Given the description of an element on the screen output the (x, y) to click on. 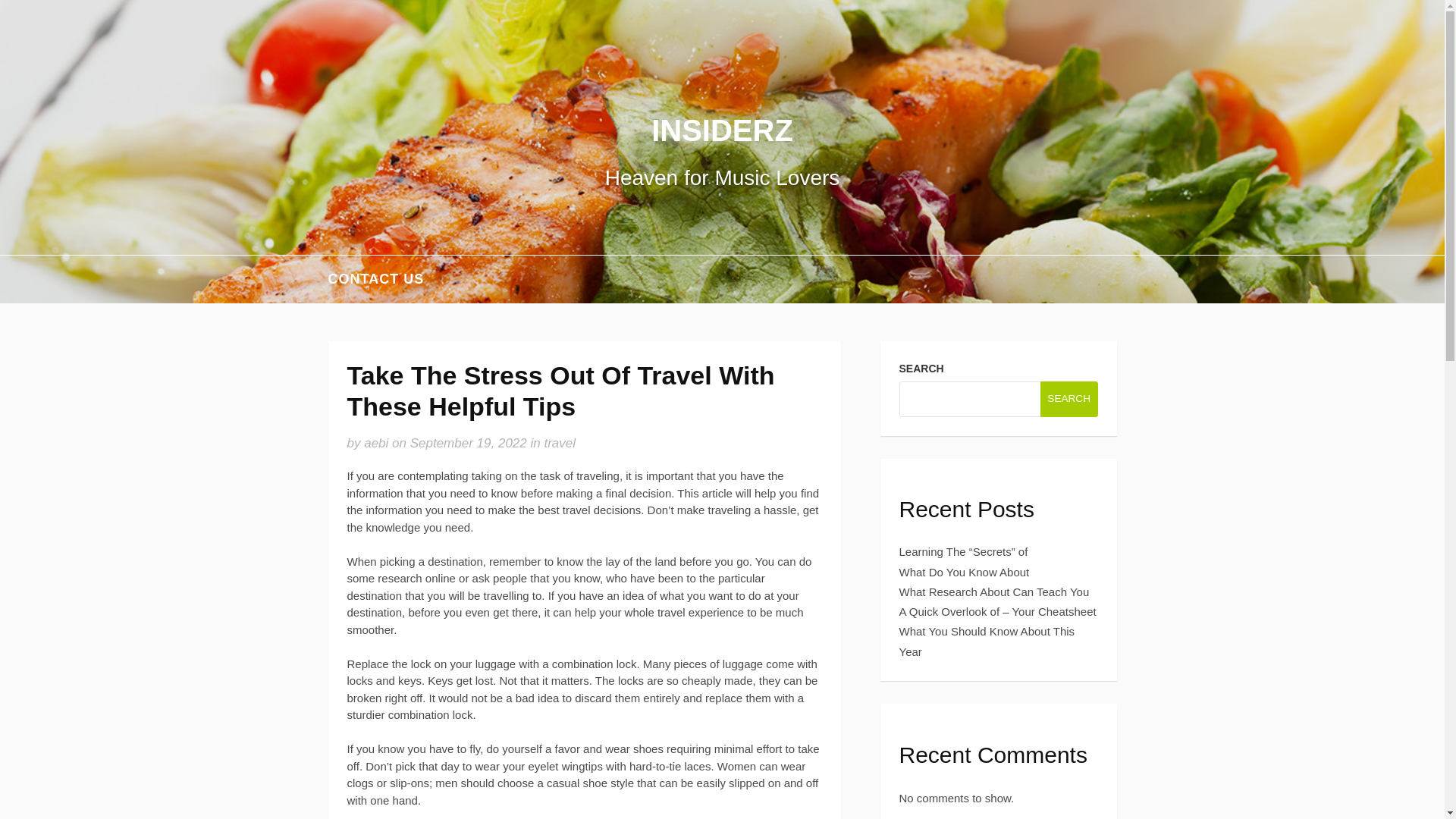
CONTACT US (375, 279)
What Do You Know About (964, 571)
INSIDERZ (721, 130)
What Research About Can Teach You (994, 591)
SEARCH (1069, 398)
What You Should Know About This Year (987, 640)
September 19, 2022 (468, 442)
travel (559, 442)
aebi (376, 442)
